Given the description of an element on the screen output the (x, y) to click on. 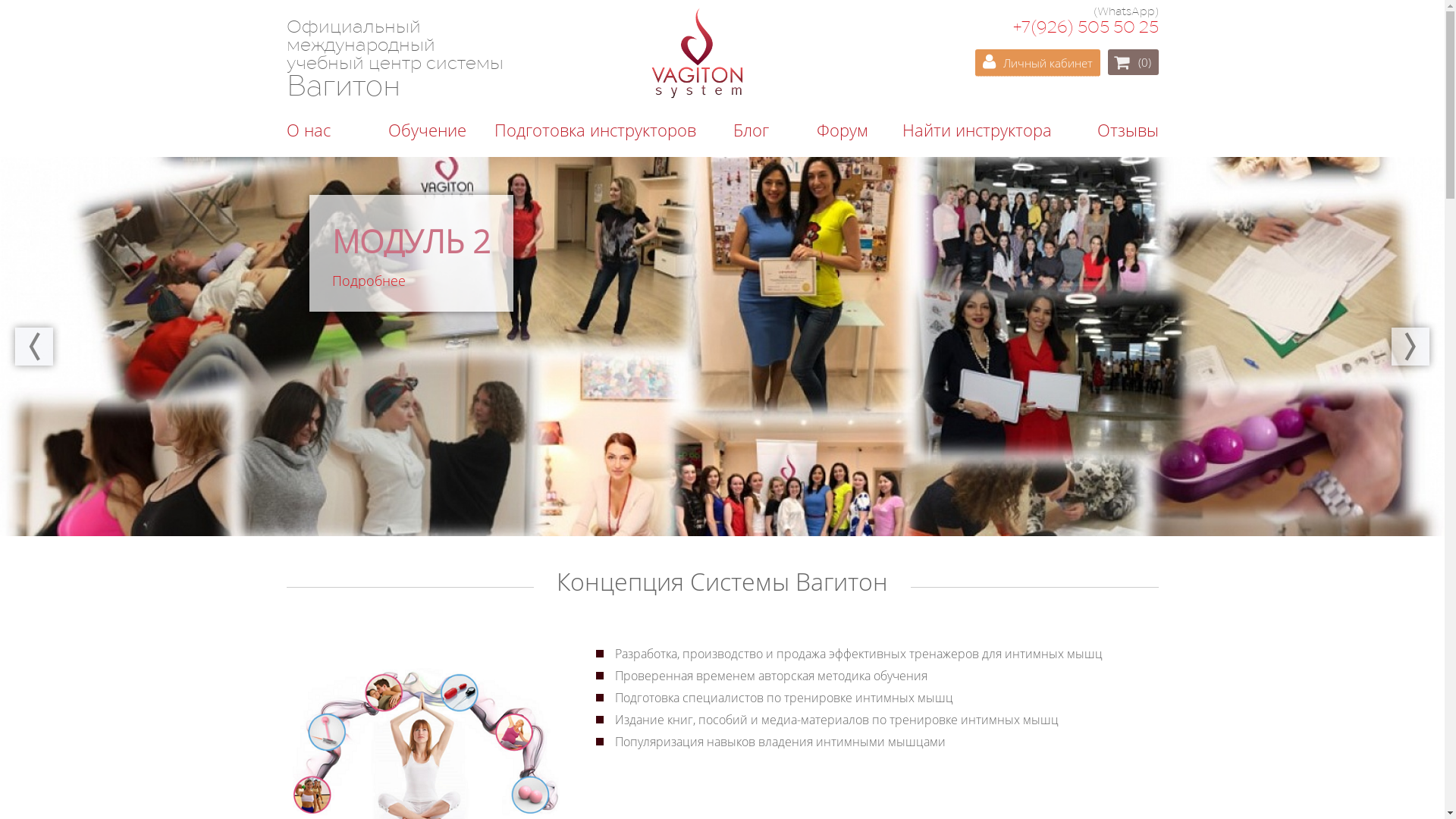
+7(926) 505 50 25 Element type: text (1085, 27)
(0) Element type: text (1143, 61)
